Given the description of an element on the screen output the (x, y) to click on. 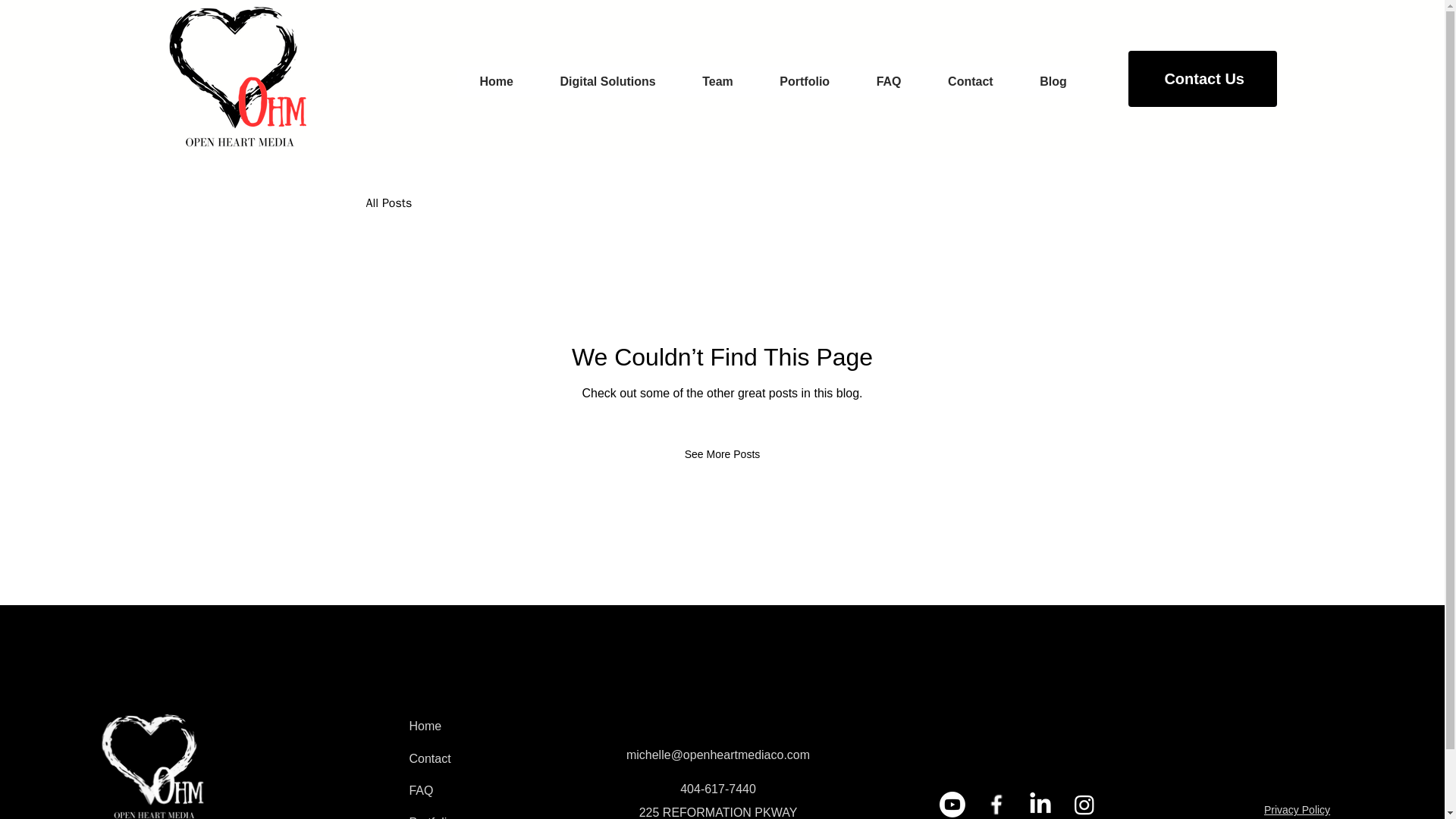
FAQ (888, 81)
Team (716, 81)
Home (475, 726)
See More Posts (722, 453)
Portfolio (475, 812)
Home (497, 81)
All Posts (388, 203)
Contact Us (1202, 78)
FAQ (475, 790)
Blog (1052, 81)
Contact (970, 81)
Contact (475, 758)
Portfolio (805, 81)
Privacy Policy (1296, 809)
